Given the description of an element on the screen output the (x, y) to click on. 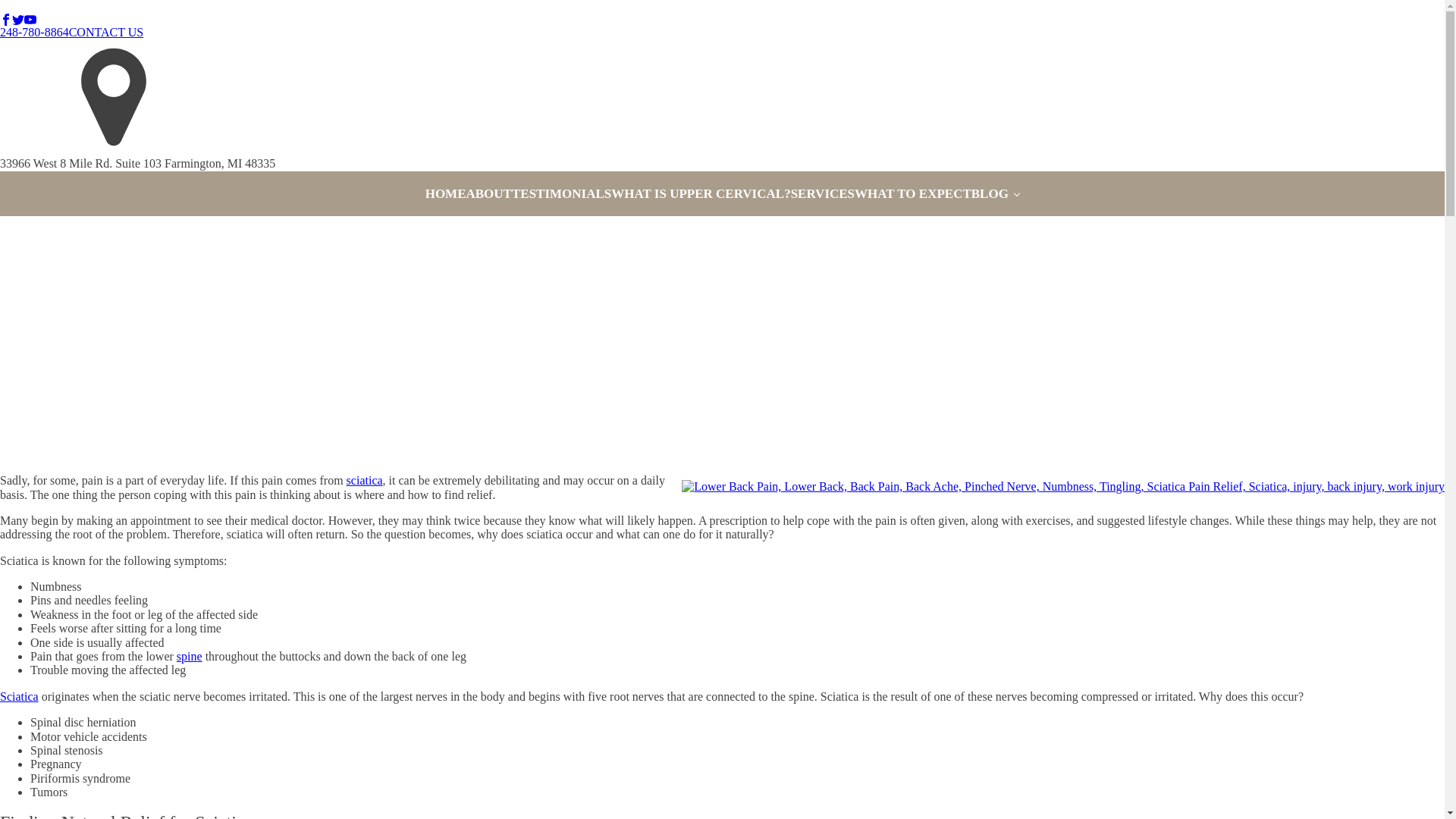
Sciatica (19, 696)
SERVICES (822, 194)
Visit our Facebook (5, 19)
WHAT IS UPPER CERVICAL? (700, 194)
sciatica (364, 480)
CONTACT US (105, 31)
BLOG (995, 194)
WHAT TO EXPECT (912, 194)
spine (189, 656)
ABOUT (488, 194)
